Given the description of an element on the screen output the (x, y) to click on. 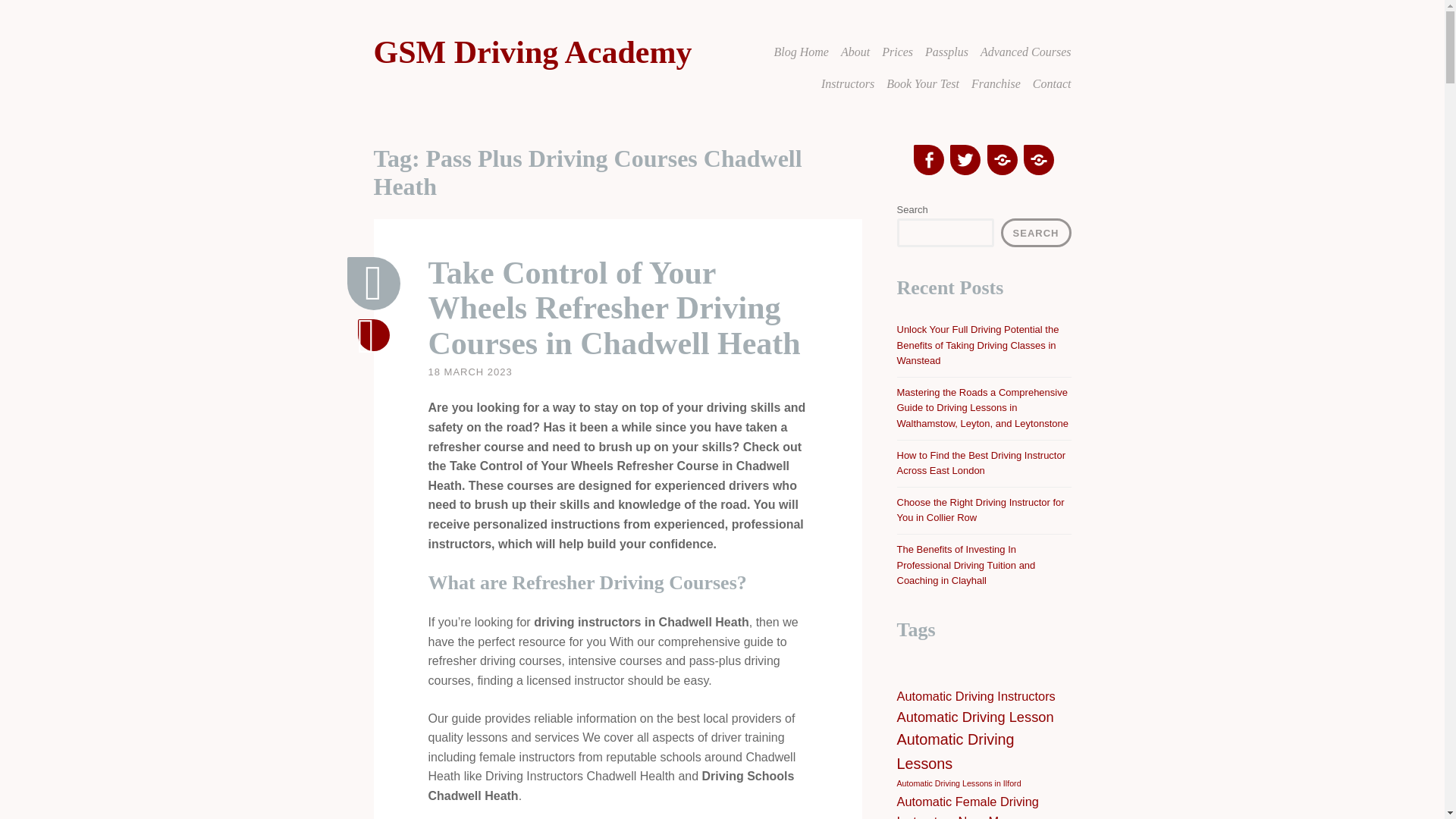
GSM Driving Academy (531, 52)
About (855, 51)
Franchise (995, 83)
Blog Home (801, 51)
Prices (897, 51)
Advanced Courses (1025, 51)
Instructors (848, 83)
Book Your Test (922, 83)
18 MARCH 2023 (470, 371)
GSM Driving Academy (531, 52)
Contact (1051, 83)
Passplus (946, 51)
